Given the description of an element on the screen output the (x, y) to click on. 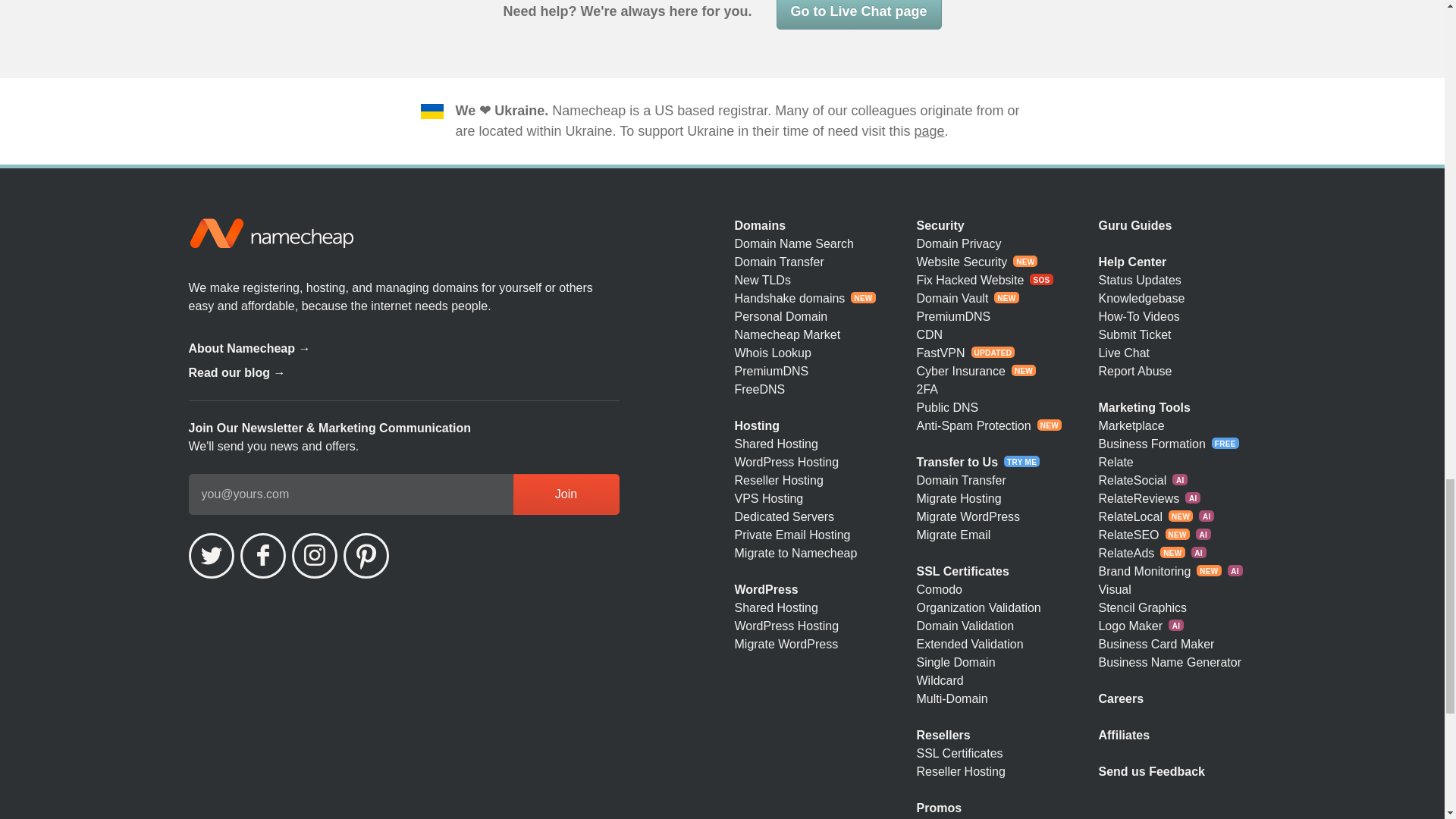
Twitter (209, 555)
Pinterest (365, 555)
Facebook (262, 555)
Instagram (313, 555)
